Given the description of an element on the screen output the (x, y) to click on. 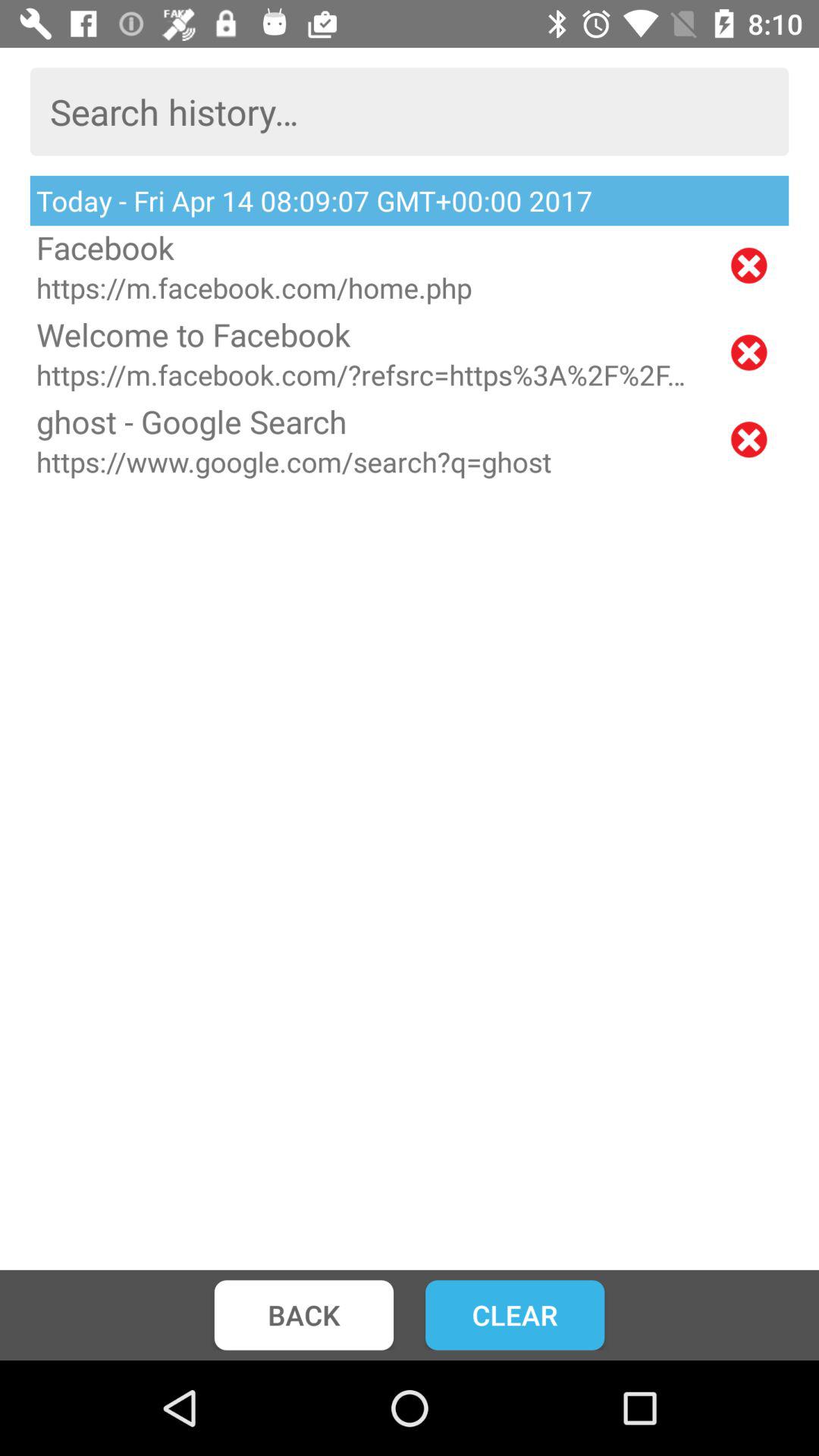
remove this record from history (748, 265)
